Given the description of an element on the screen output the (x, y) to click on. 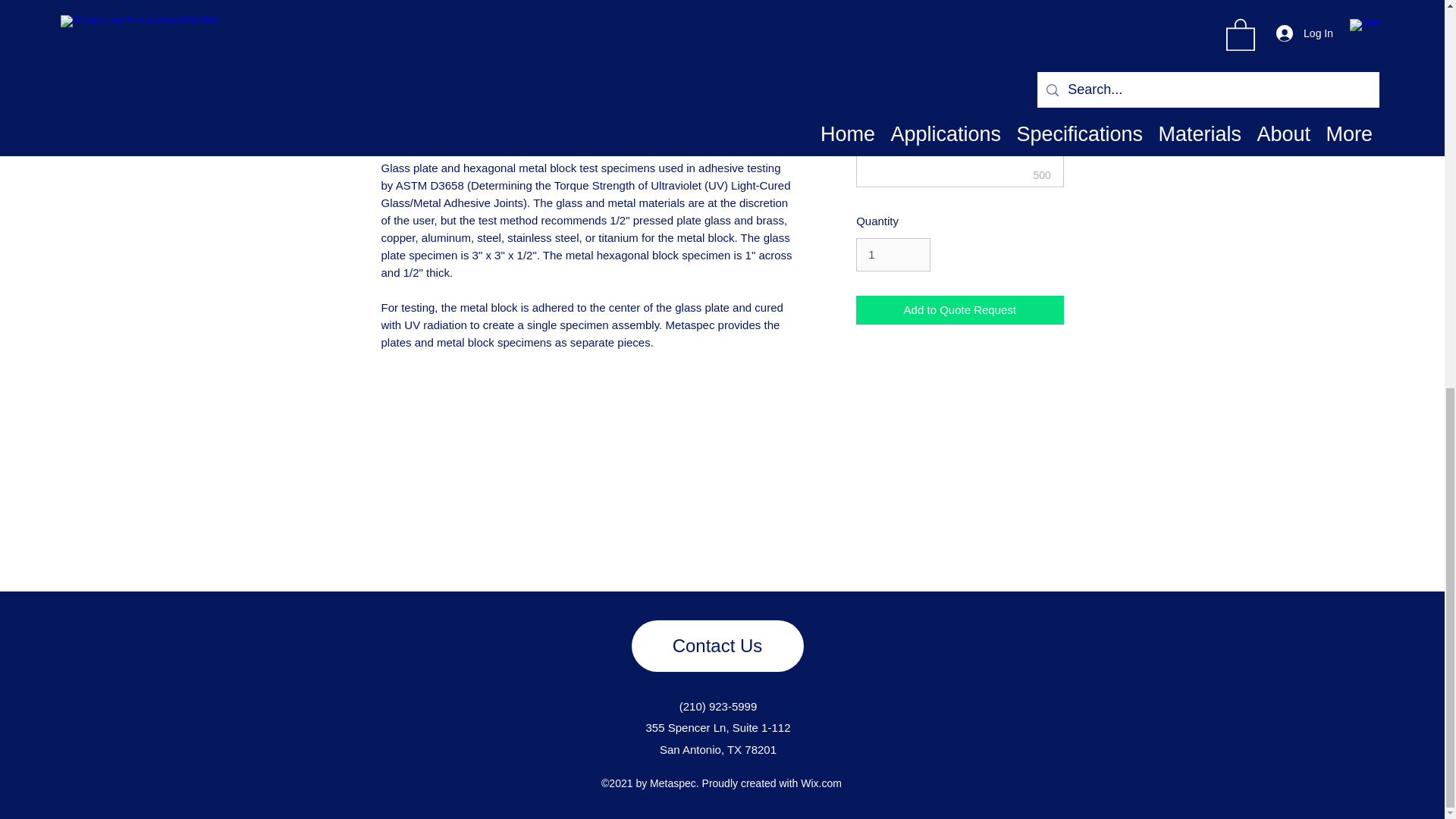
Contact Us (716, 645)
Add to Quote Request (959, 309)
1 (893, 254)
